Given the description of an element on the screen output the (x, y) to click on. 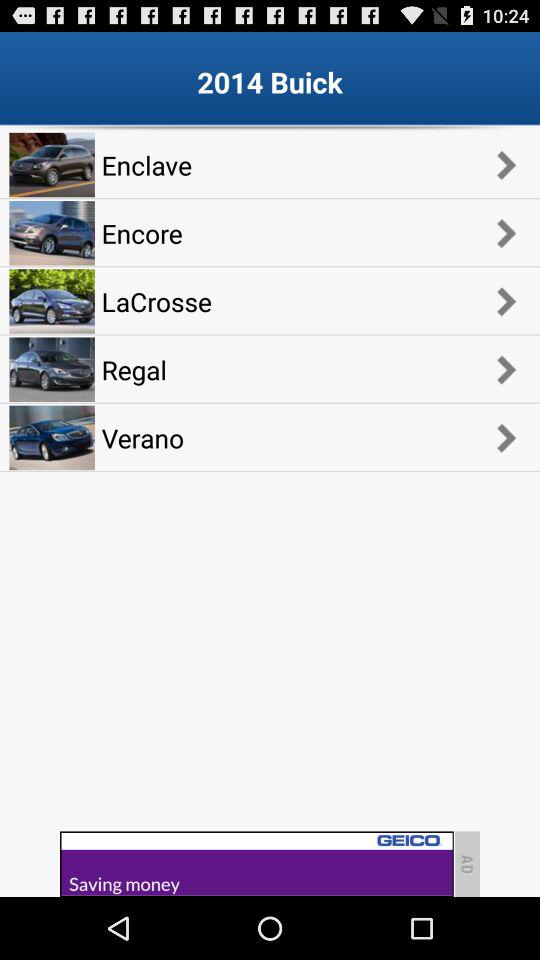
pop-up advertisement (256, 864)
